Given the description of an element on the screen output the (x, y) to click on. 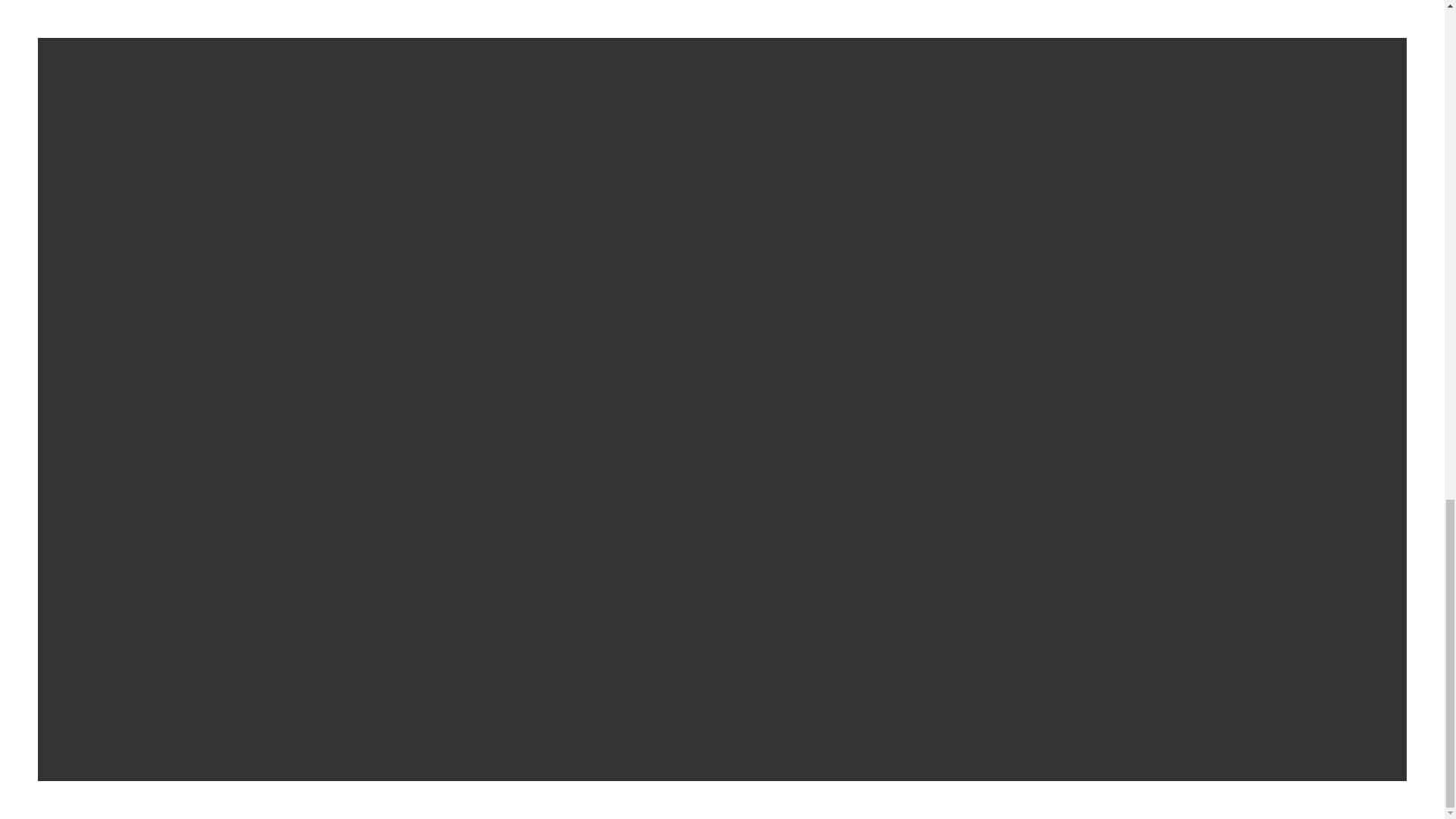
TUMBLR (555, 518)
PINTEREST (699, 518)
FACEBOOK (362, 518)
SmartMoves (306, 751)
GOOGLE PLUS (625, 518)
TWITTER (424, 518)
VKONTAKTE (491, 518)
